Given the description of an element on the screen output the (x, y) to click on. 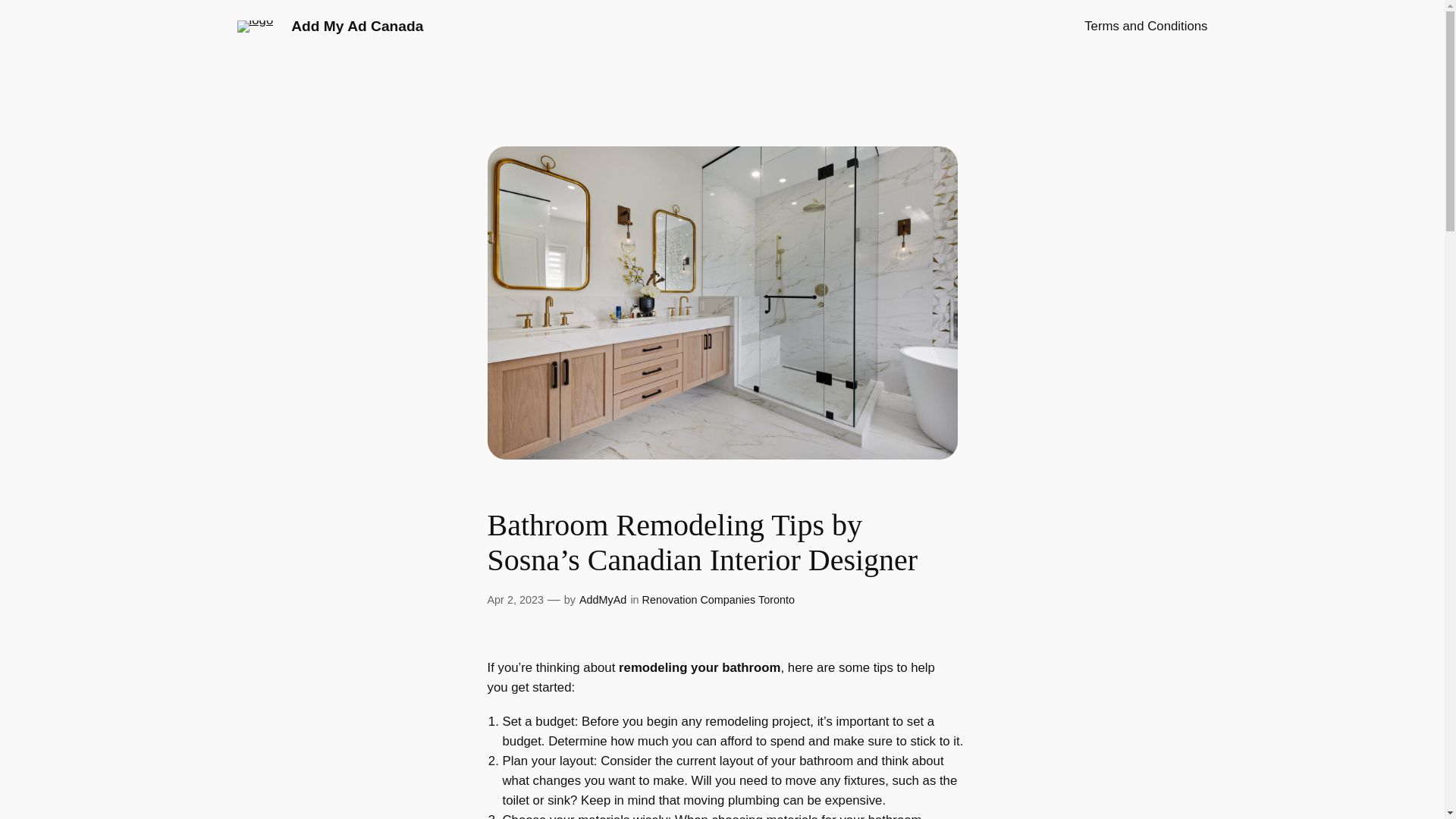
Renovation Companies Toronto (718, 599)
Add My Ad Canada (357, 26)
Apr 2, 2023 (514, 599)
AddMyAd (602, 599)
Terms and Conditions (1145, 26)
